Given the description of an element on the screen output the (x, y) to click on. 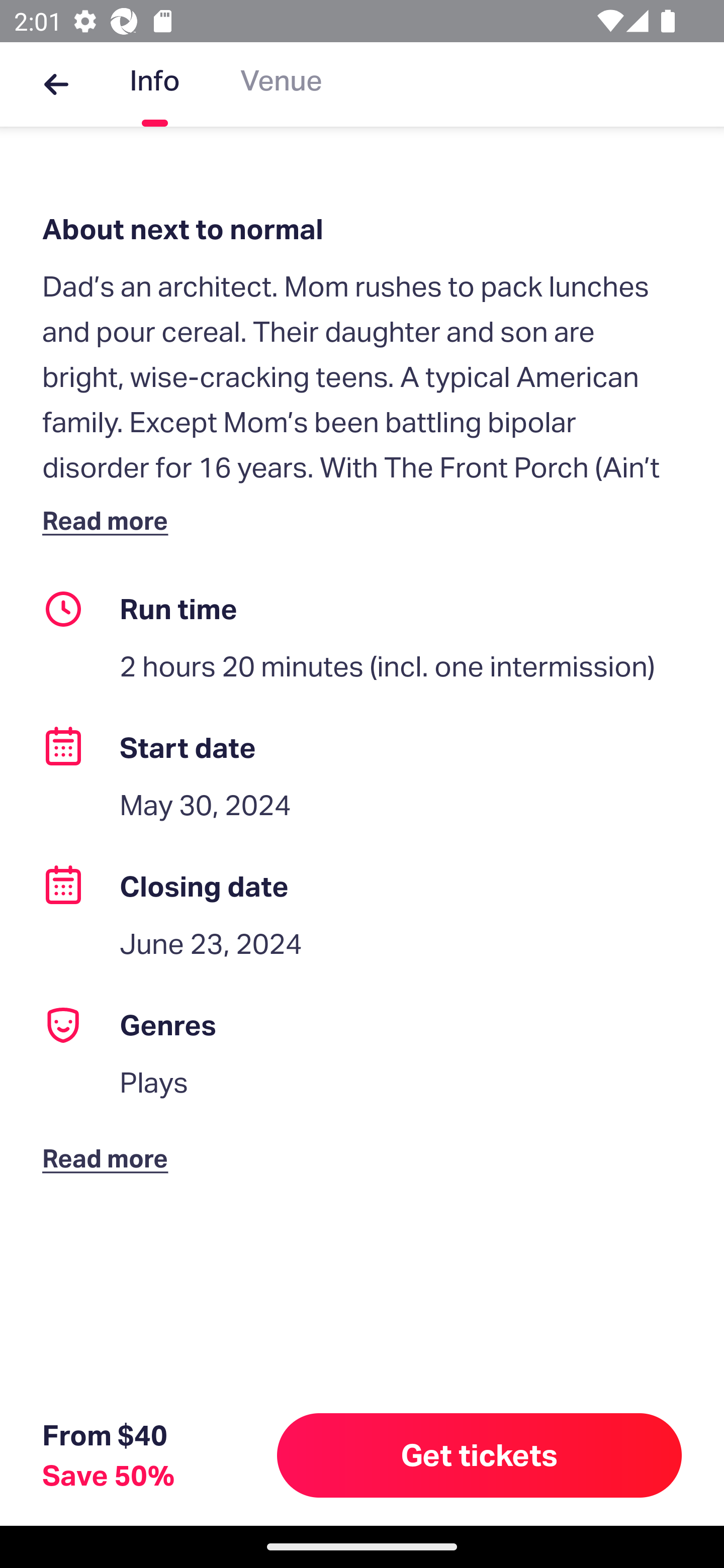
Venue (280, 84)
About next to normal (361, 229)
Read more (109, 519)
Read more (109, 1141)
Get tickets (479, 1454)
